Given the description of an element on the screen output the (x, y) to click on. 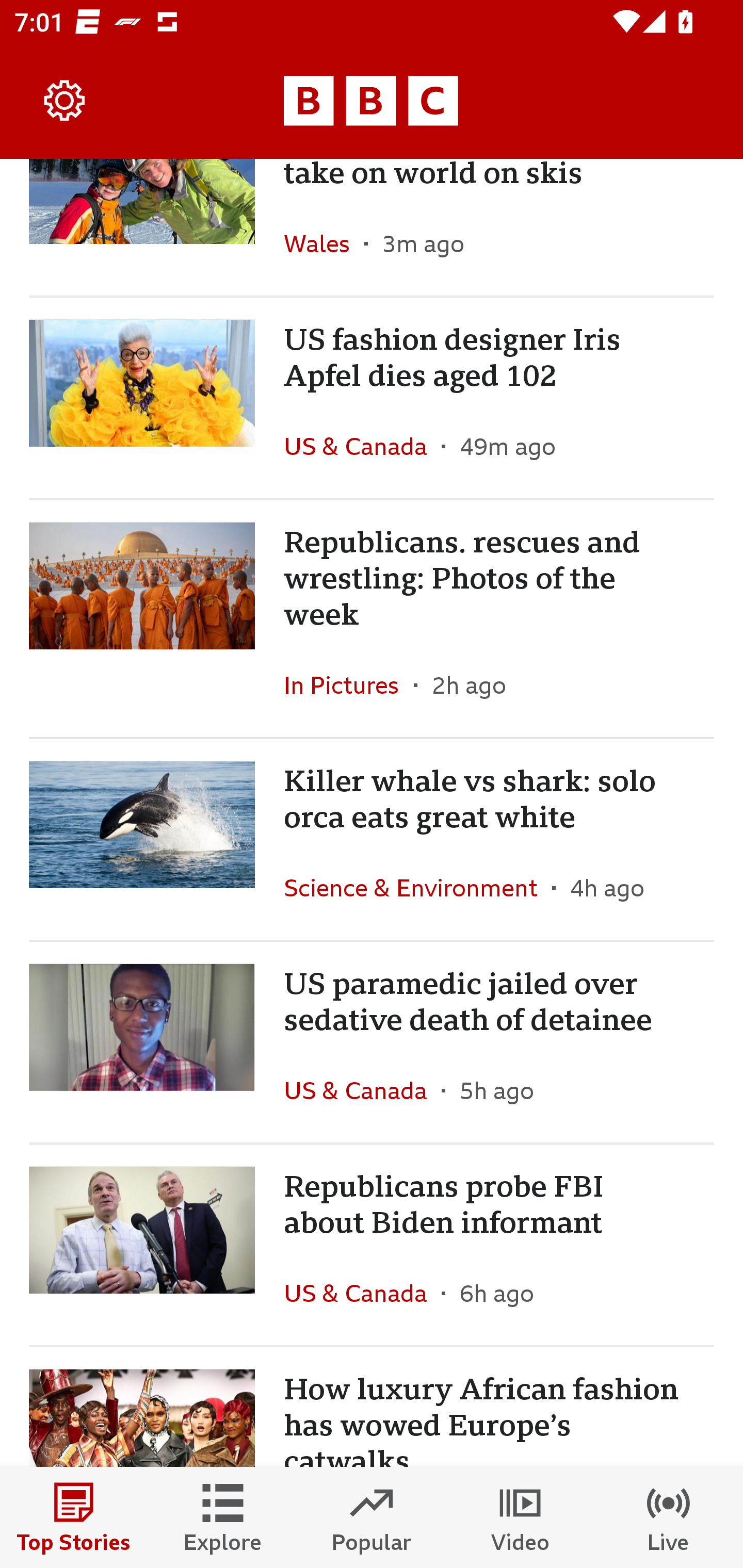
Settings (64, 100)
Wales In the section Wales (323, 242)
US & Canada In the section US & Canada (362, 445)
In Pictures In the section In Pictures (348, 684)
US & Canada In the section US & Canada (362, 1090)
US & Canada In the section US & Canada (362, 1292)
Explore (222, 1517)
Popular (371, 1517)
Video (519, 1517)
Live (668, 1517)
